Given the description of an element on the screen output the (x, y) to click on. 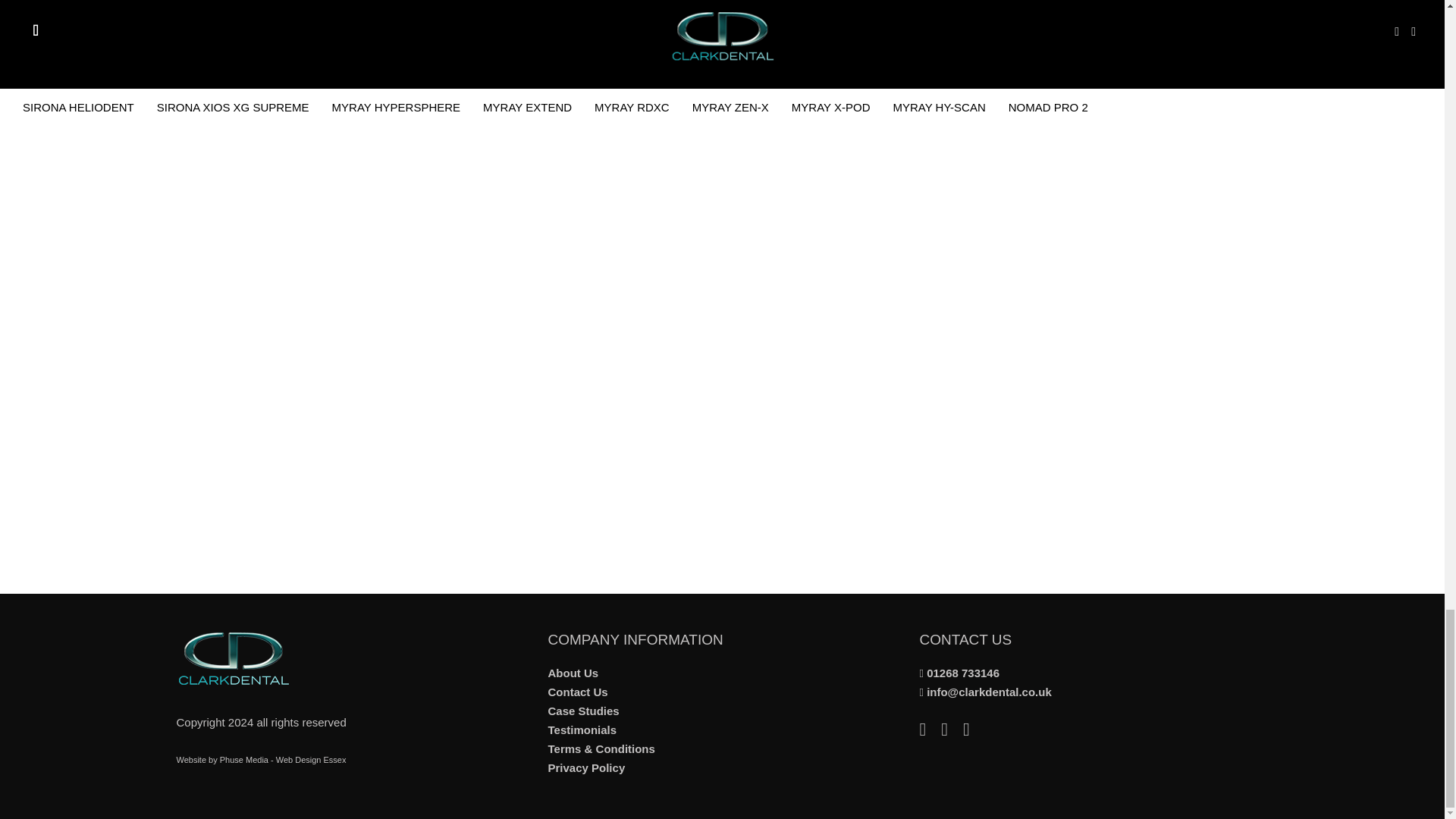
Instagram (973, 730)
Facebook (951, 730)
Linkedin (929, 730)
